Given the description of an element on the screen output the (x, y) to click on. 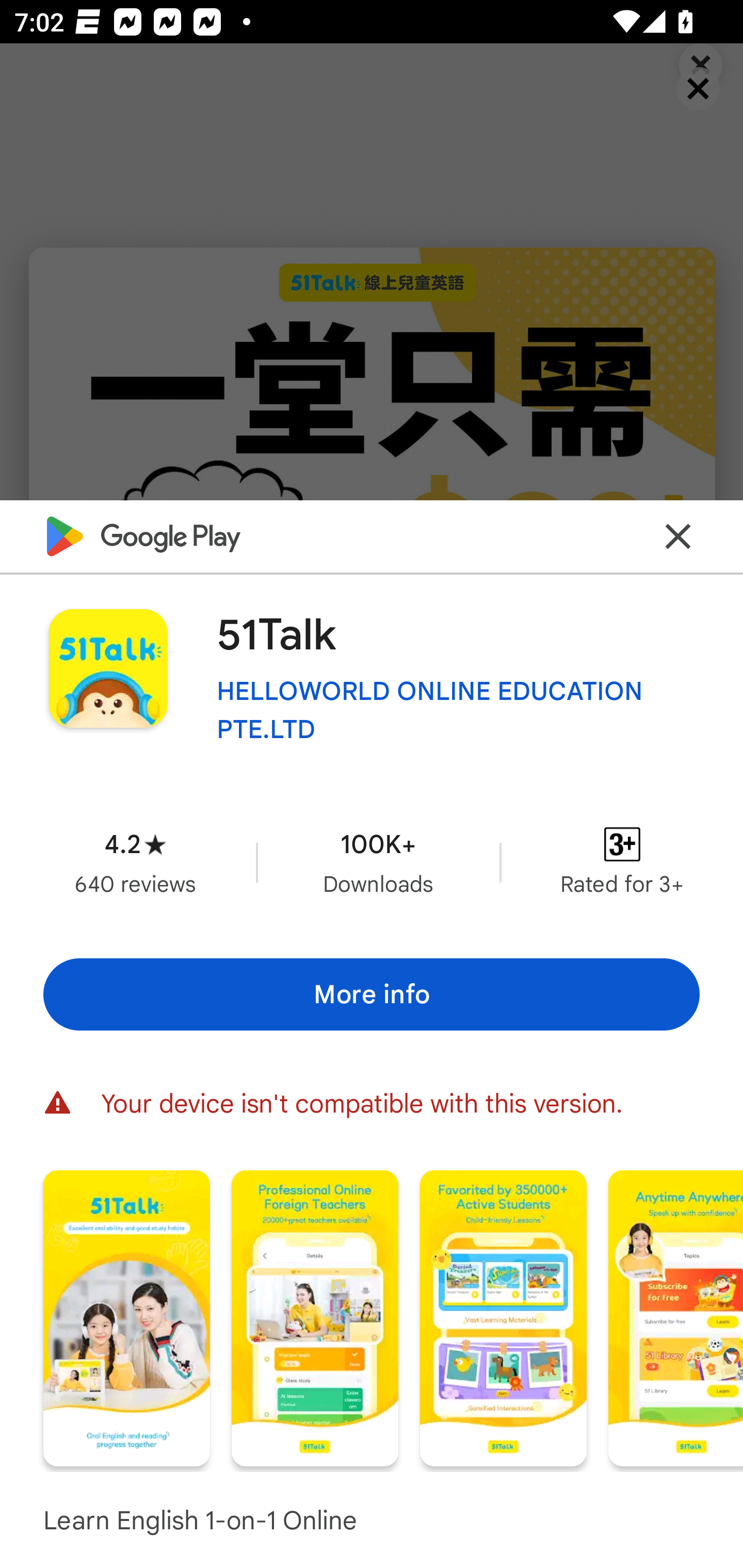
Close (677, 536)
Image of app or game icon for 51Talk (108, 668)
HELLOWORLD ONLINE EDUCATION PTE.LTD (457, 710)
More info (371, 994)
Screenshot "1" of "5" (126, 1317)
Screenshot "2" of "5" (314, 1317)
Screenshot "3" of "5" (502, 1317)
Screenshot "4" of "5" (675, 1317)
